Given the description of an element on the screen output the (x, y) to click on. 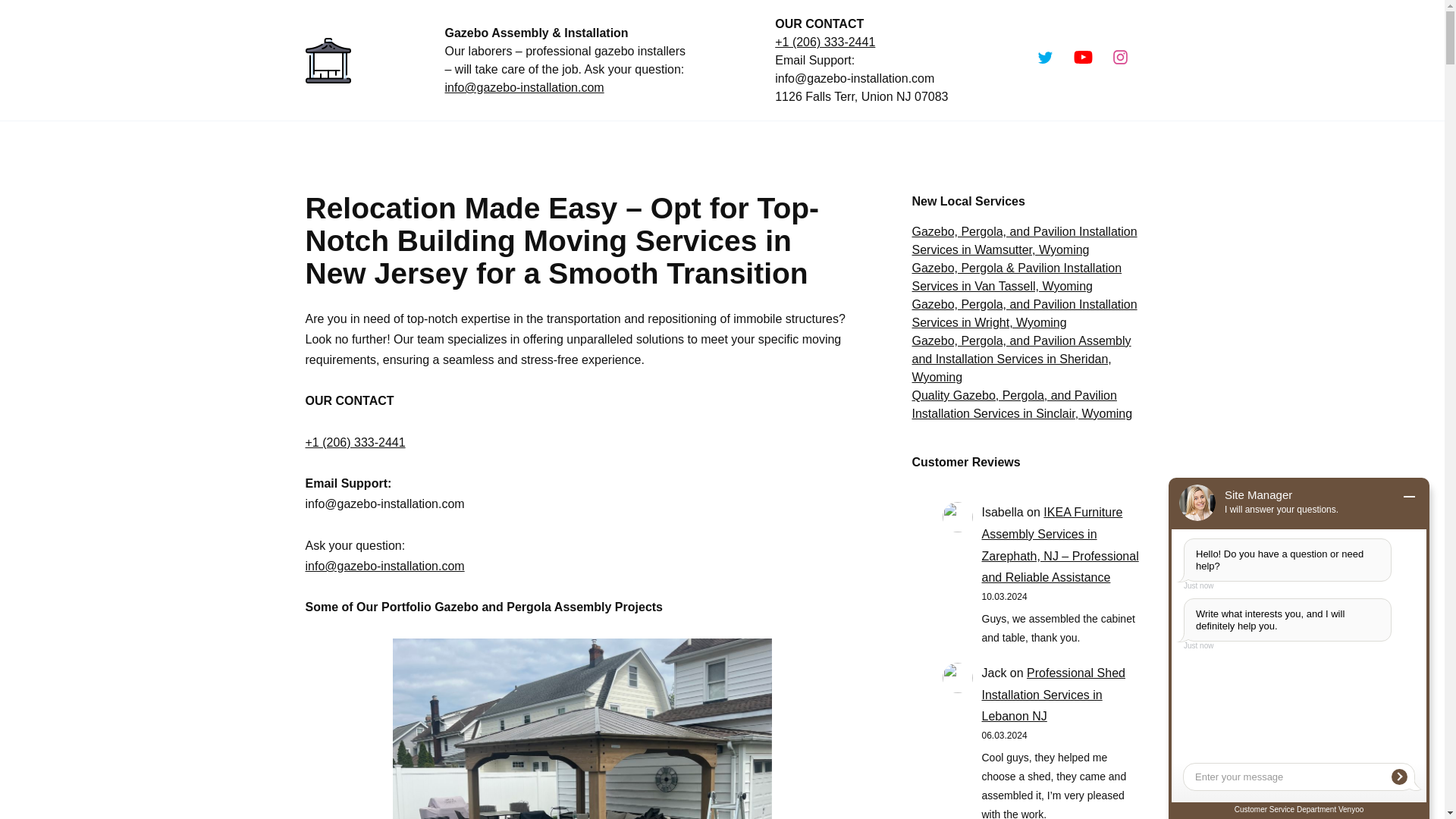
CONTACT US (1029, 145)
CUSTOMER REVIEWS (902, 145)
GAZEBO INSTALLATION (380, 145)
LOCATIONS USA (663, 145)
HANDYMAN NJ (527, 145)
PORTFOLIO (780, 145)
